Given the description of an element on the screen output the (x, y) to click on. 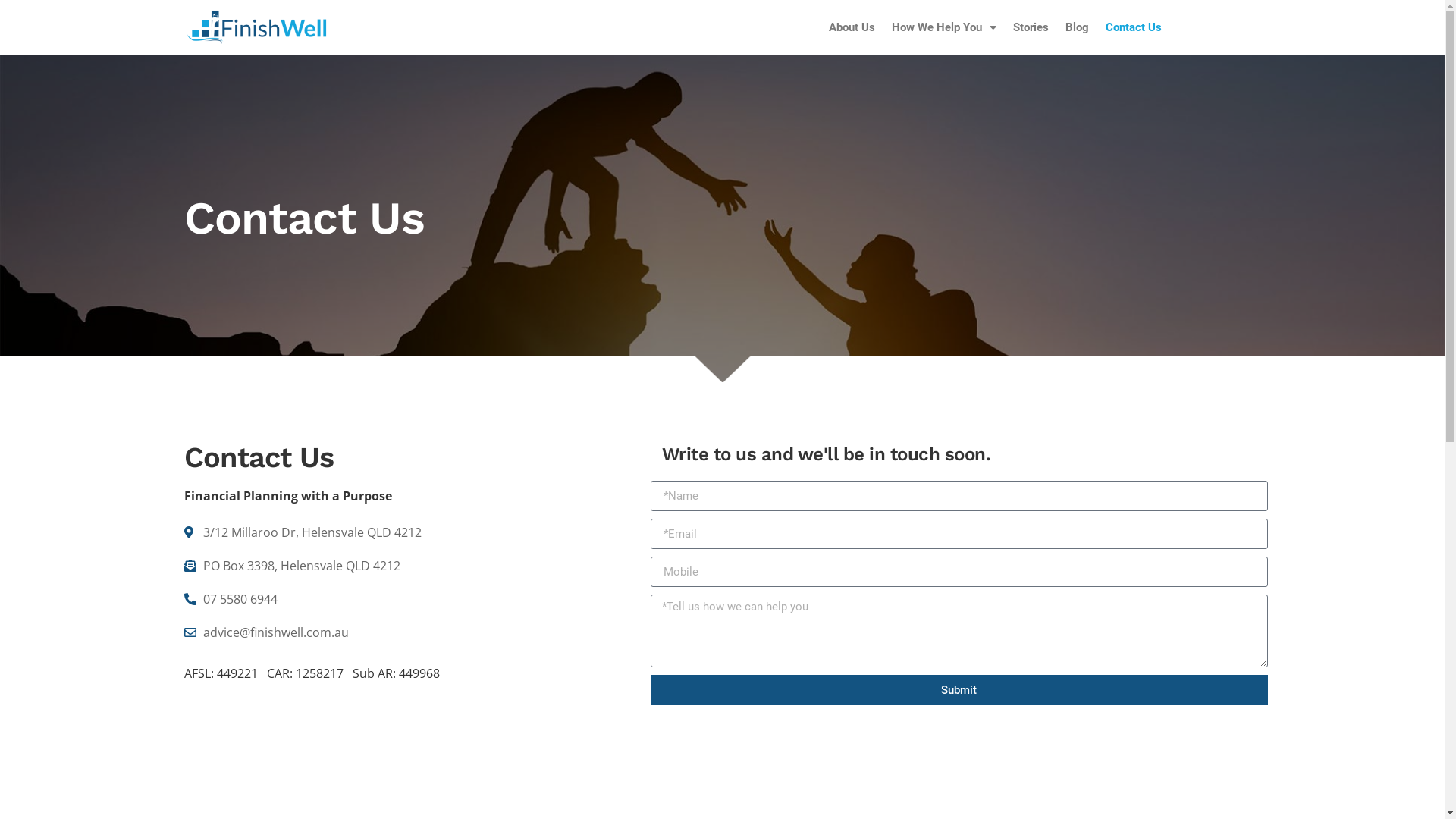
Submit Element type: text (959, 689)
advice@finishwell.com.au Element type: text (416, 632)
Blog Element type: text (1077, 26)
About Us Element type: text (851, 26)
Contact Us Element type: text (1133, 26)
07 5580 6944 Element type: text (416, 598)
How We Help You Element type: text (943, 26)
Stories Element type: text (1030, 26)
